Given the description of an element on the screen output the (x, y) to click on. 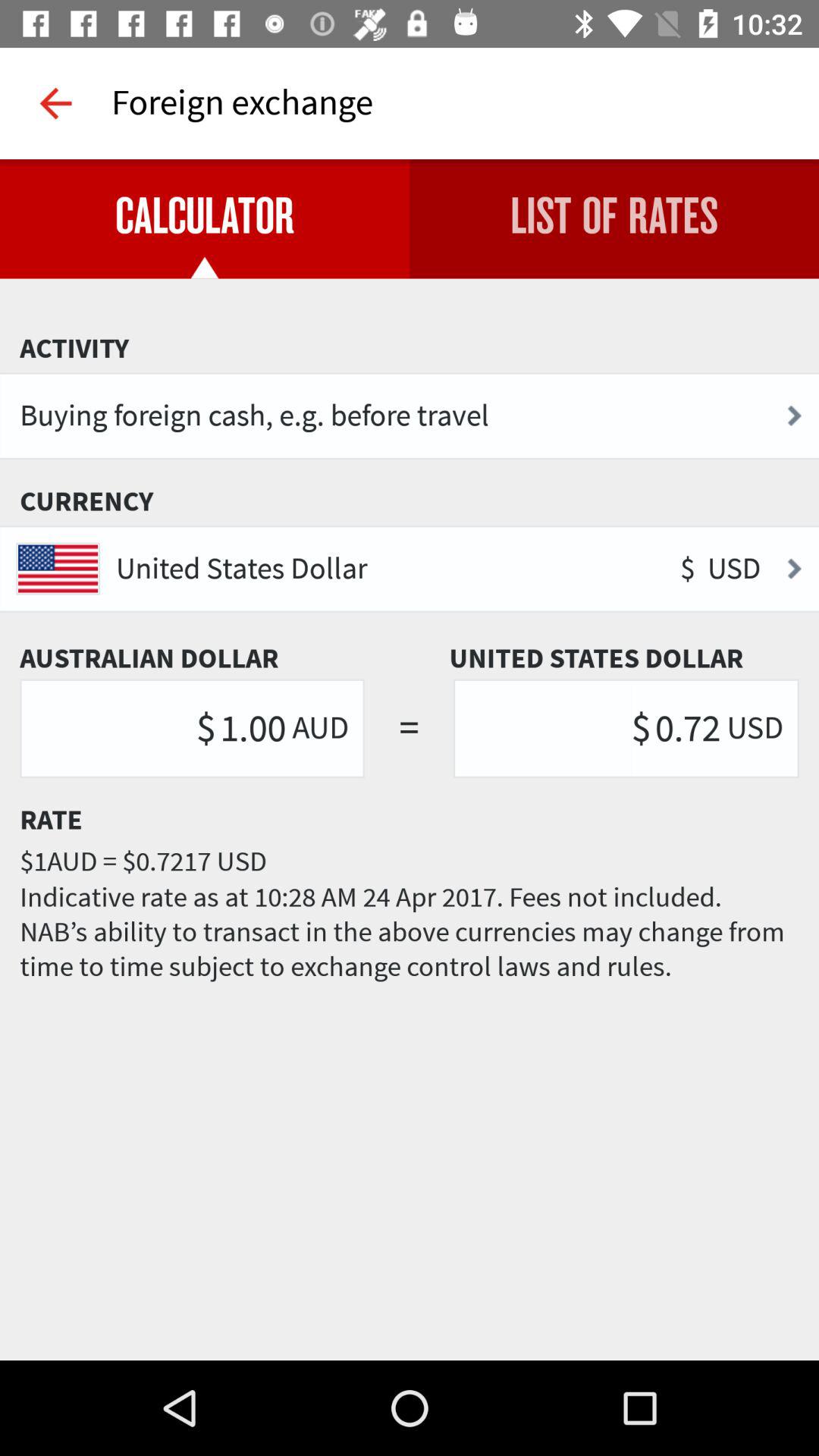
tap item to the right of the calculator item (614, 218)
